Given the description of an element on the screen output the (x, y) to click on. 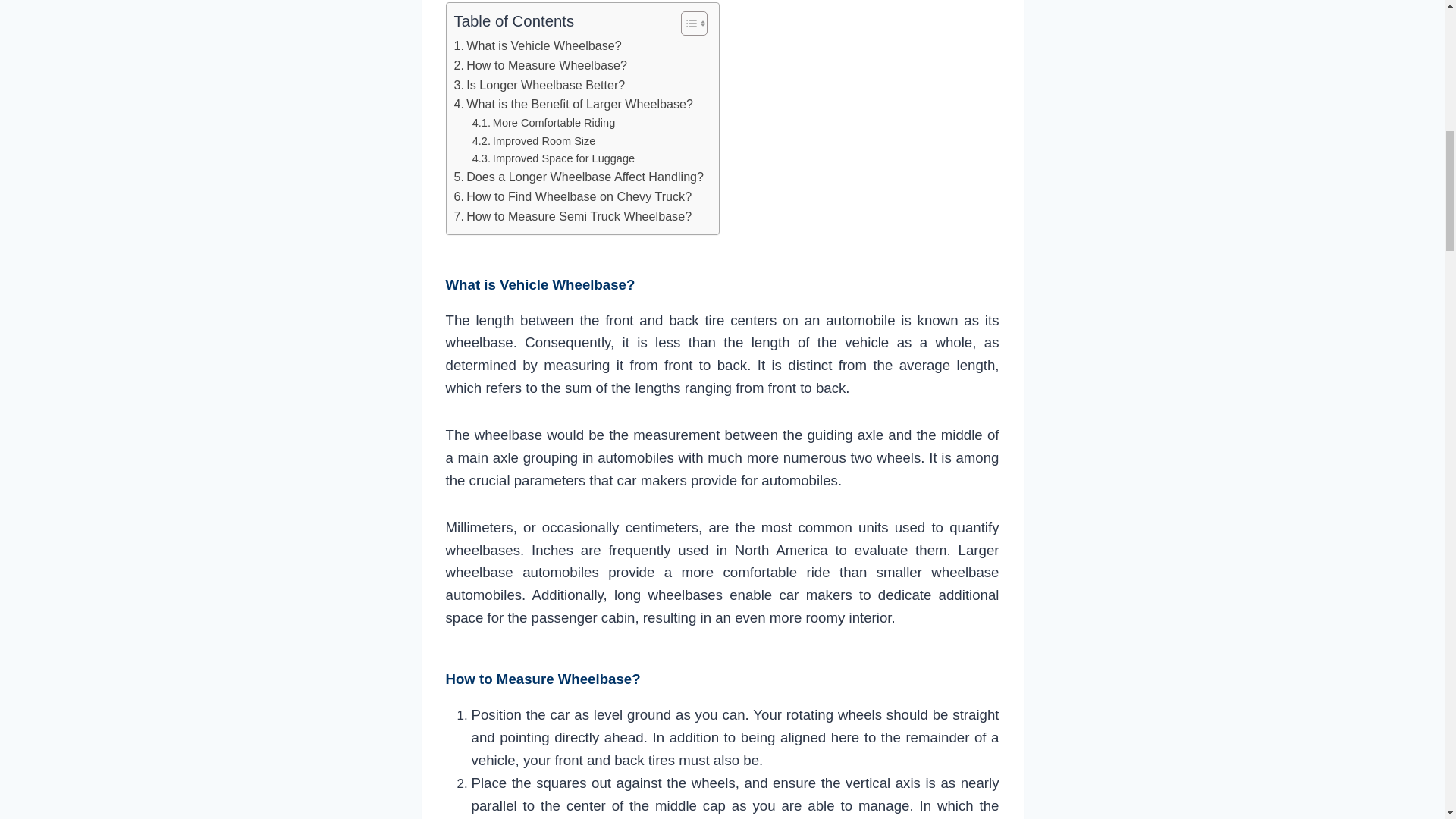
How to Find Wheelbase on Chevy Truck? (571, 197)
More Comfortable Riding (543, 122)
How to Measure Wheelbase? (539, 66)
Improved Space for Luggage (552, 158)
How to Find Wheelbase on Chevy Truck? (571, 197)
What is Vehicle Wheelbase? (536, 46)
Does a Longer Wheelbase Affect Handling? (577, 177)
Improved Space for Luggage (552, 158)
How to Measure Semi Truck Wheelbase? (571, 216)
What is Vehicle Wheelbase? (536, 46)
